Given the description of an element on the screen output the (x, y) to click on. 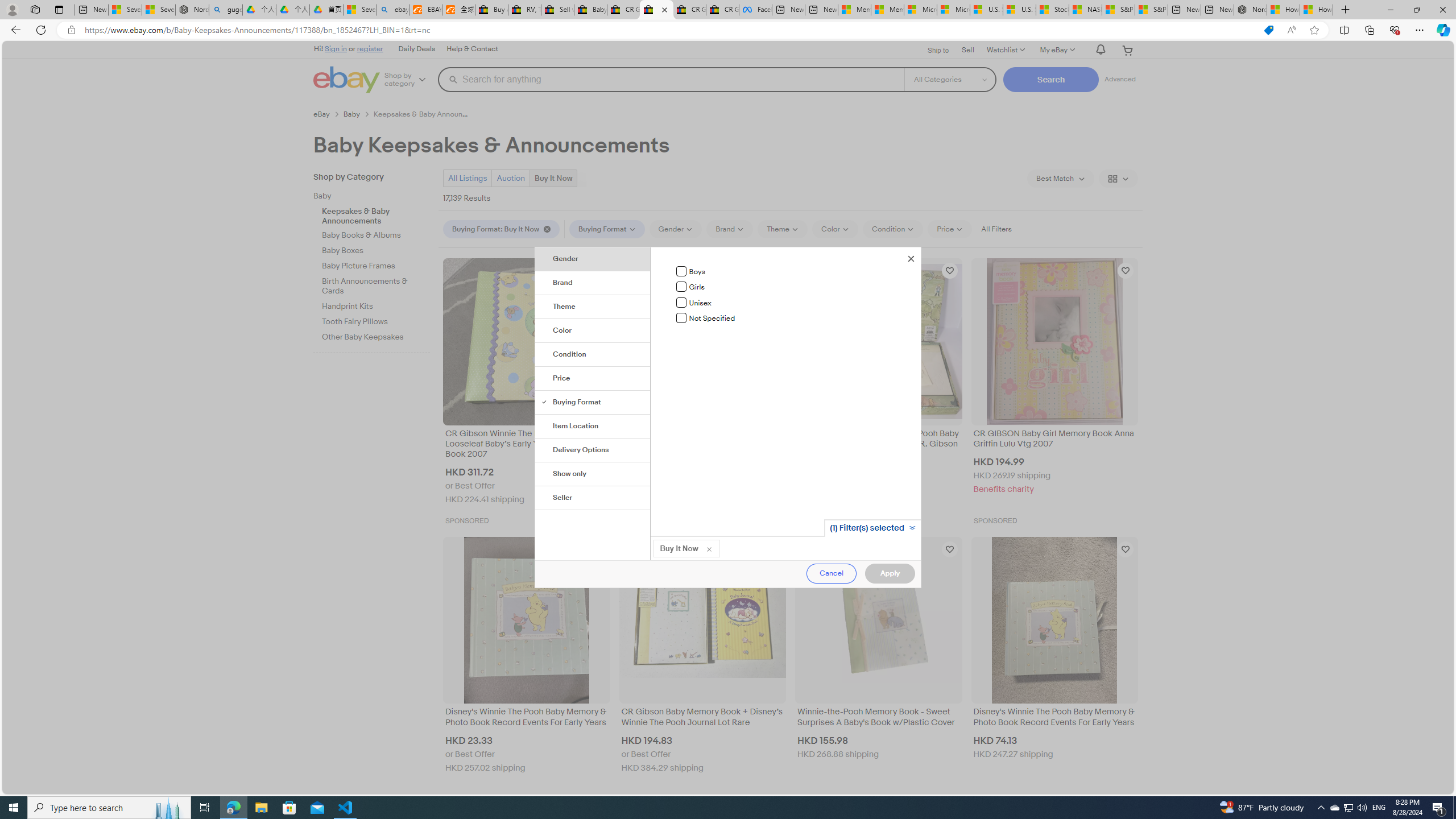
Item Location (592, 426)
Theme (592, 306)
Brand (592, 282)
Buying Format (592, 402)
